Given the description of an element on the screen output the (x, y) to click on. 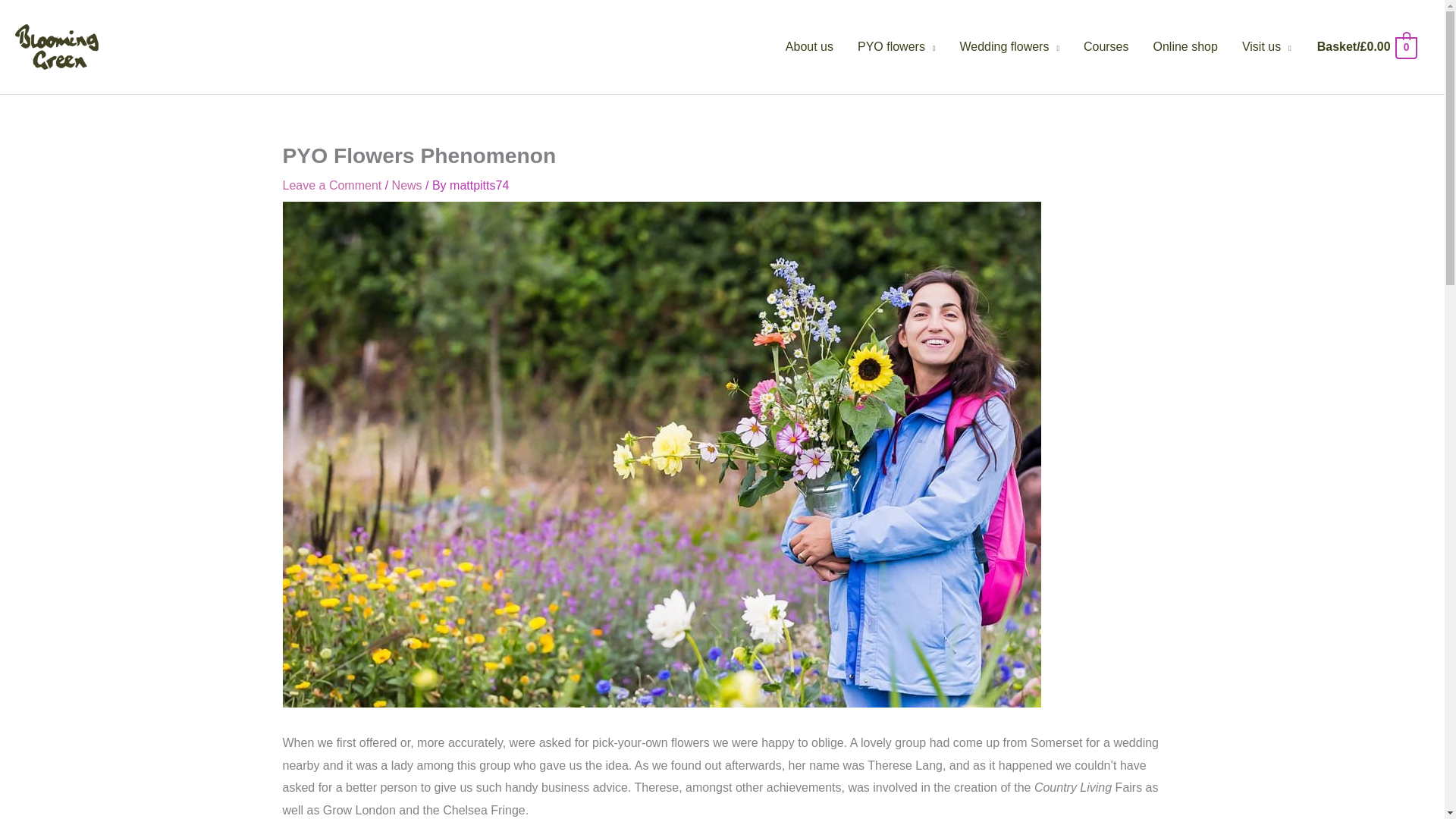
News (406, 185)
Courses (1106, 46)
Wedding flowers (1009, 46)
mattpitts74 (478, 185)
View all posts by mattpitts74 (478, 185)
Online shop (1184, 46)
PYO flowers (896, 46)
About us (809, 46)
Visit us (1266, 46)
Leave a Comment (331, 185)
